Given the description of an element on the screen output the (x, y) to click on. 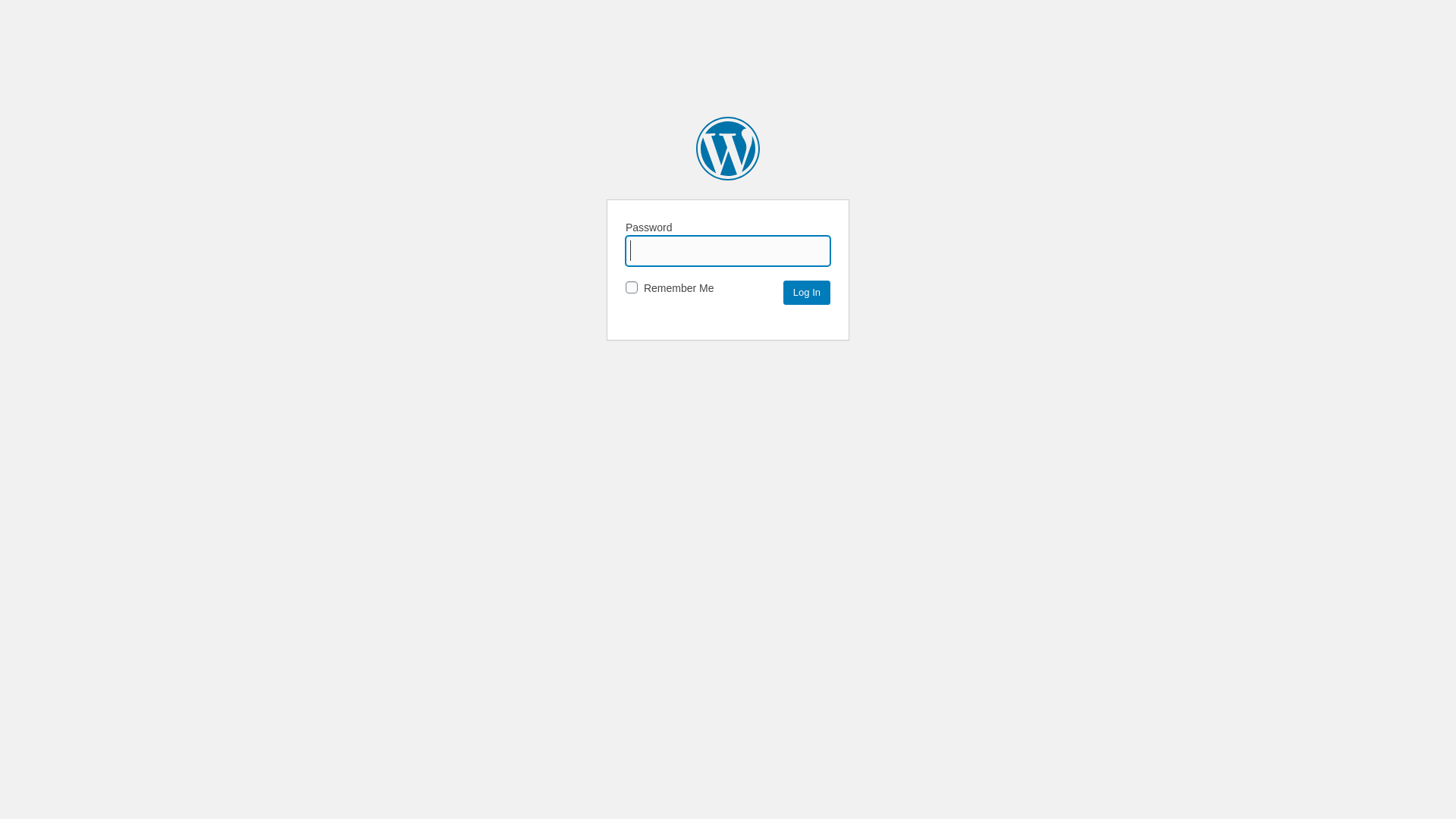
Log In Element type: text (806, 292)
Anneleen Maelfeyt Element type: text (727, 148)
